Given the description of an element on the screen output the (x, y) to click on. 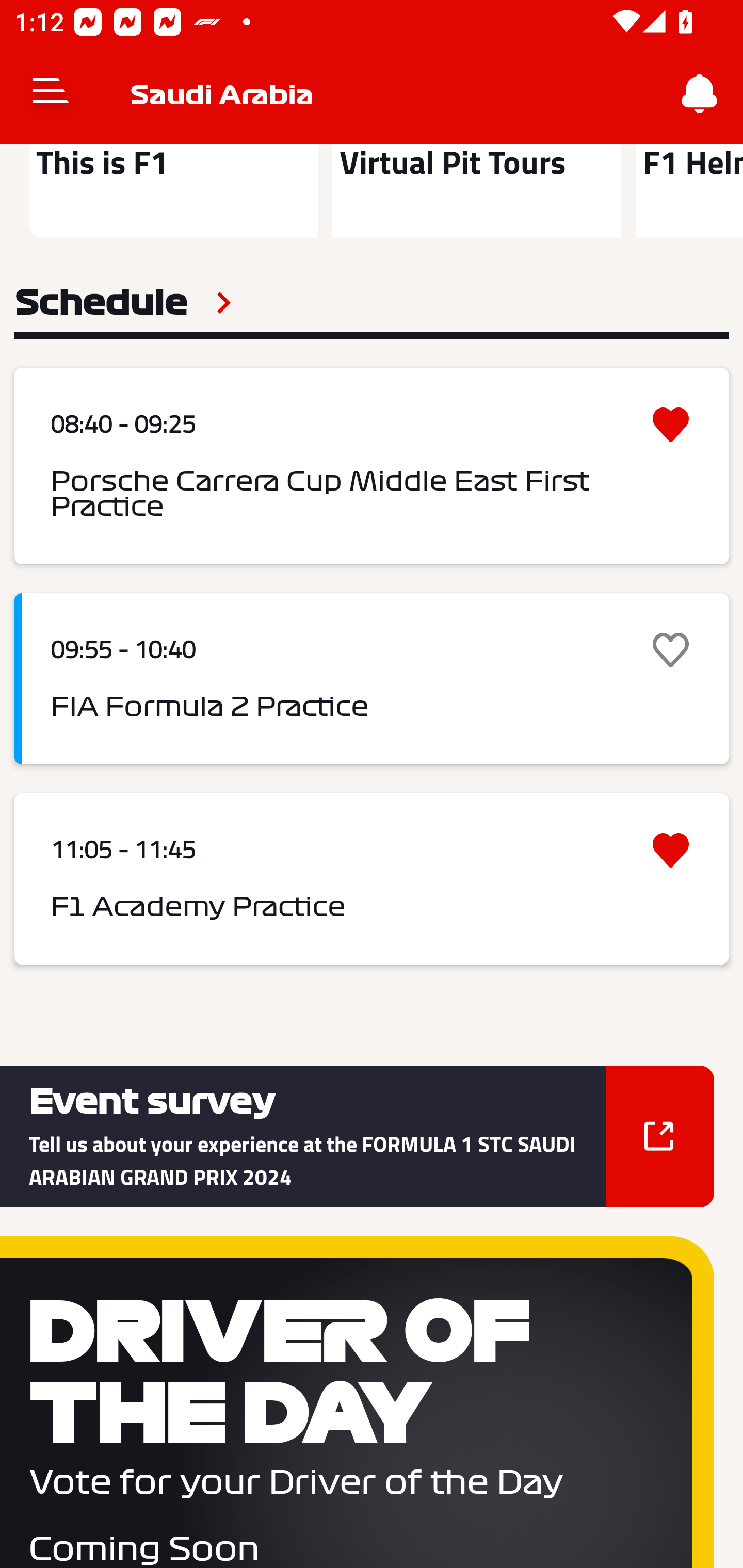
Navigate up (50, 93)
Notifications (699, 93)
This is F1 (173, 191)
Virtual Pit Tours (476, 191)
Schedule (122, 302)
09:55 - 10:40 FIA Formula 2 Practice (371, 678)
11:05 - 11:45 F1 Academy Practice (371, 878)
